Given the description of an element on the screen output the (x, y) to click on. 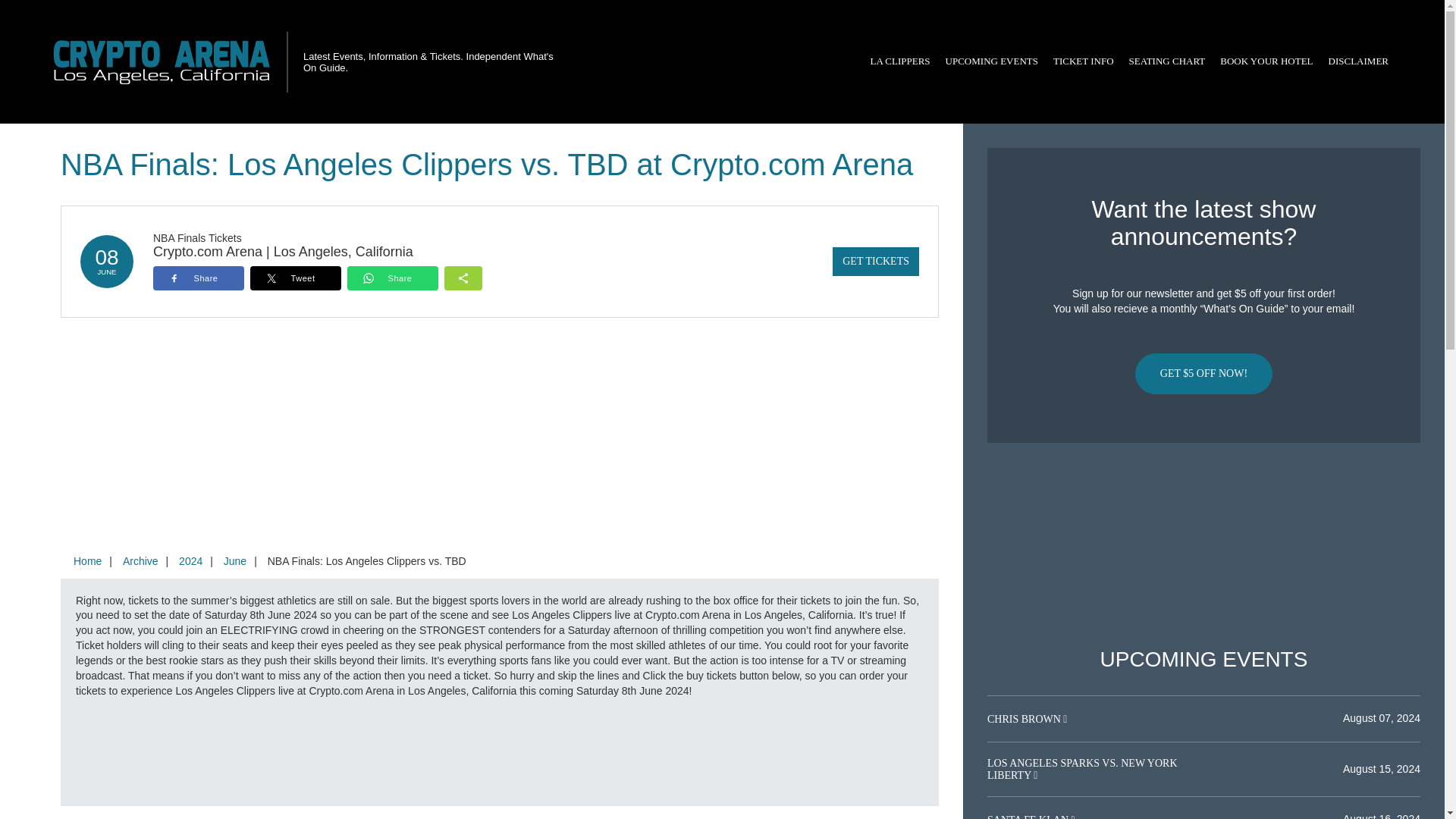
GET TICKETS (875, 261)
June (234, 561)
NBA Finals Tickets (196, 237)
LA CLIPPERS (899, 61)
BOOK YOUR HOTEL (1266, 61)
TICKET INFO (1083, 61)
Advertisement (1204, 545)
LOS ANGELES SPARKS VS. NEW YORK LIBERTY (1082, 768)
SEATING CHART (1166, 61)
